Given the description of an element on the screen output the (x, y) to click on. 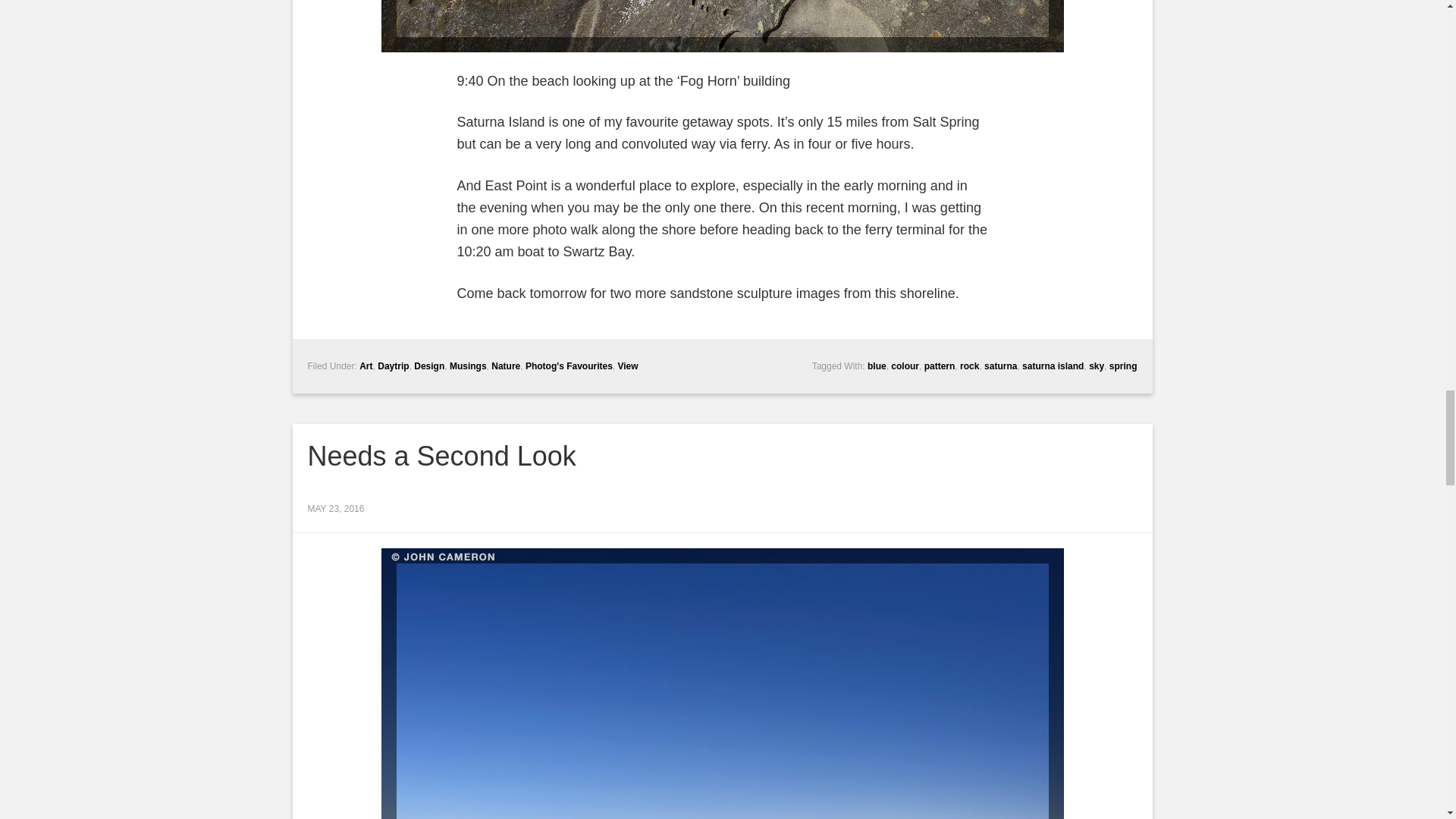
Musings (467, 366)
blue (876, 366)
pattern (939, 366)
Design (428, 366)
Nature (505, 366)
Art (365, 366)
View (627, 366)
Daytrip (393, 366)
Photog's Favourites (568, 366)
colour (904, 366)
